Given the description of an element on the screen output the (x, y) to click on. 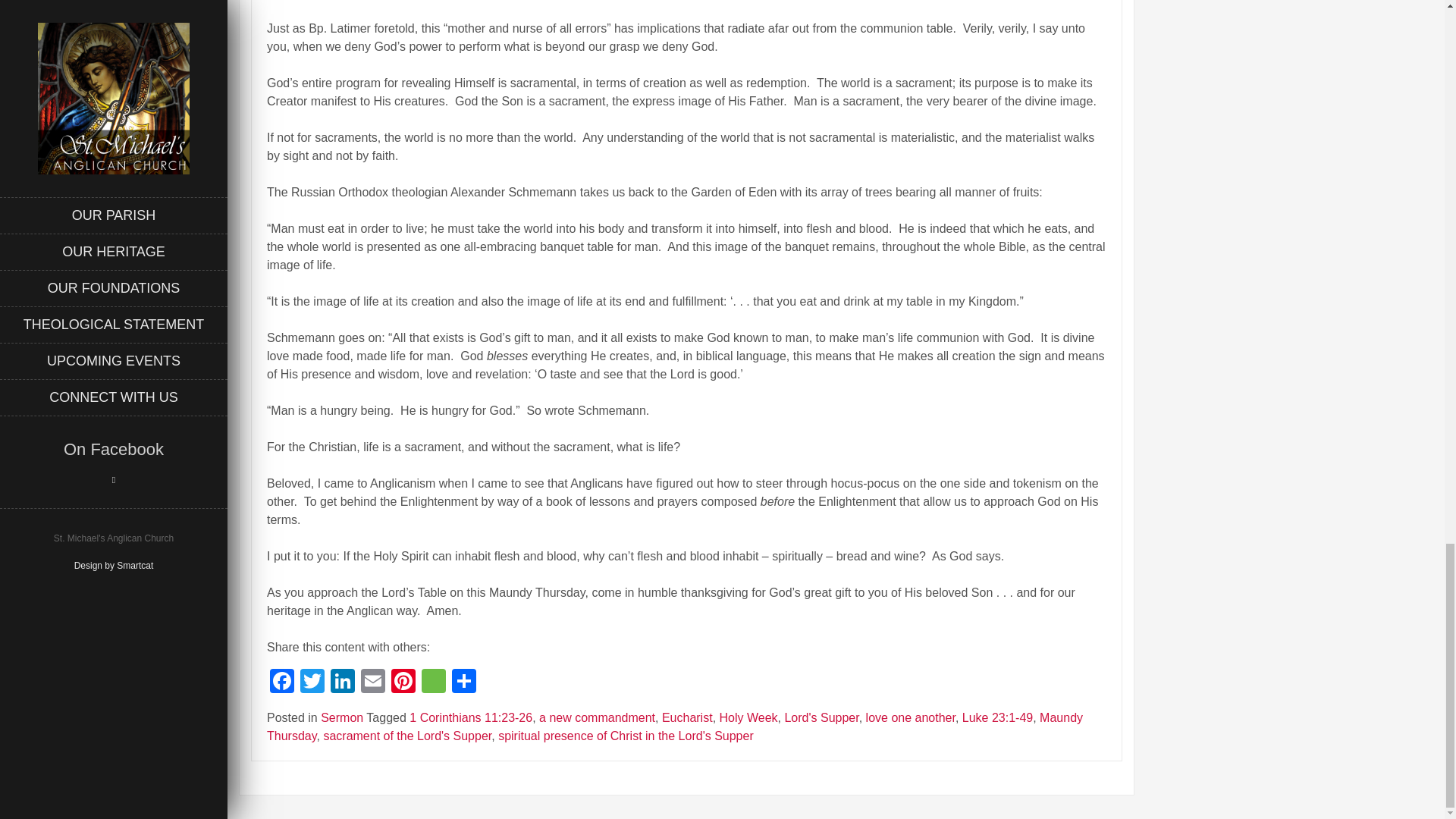
sacrament of the Lord's Supper (407, 735)
Eucharist (687, 717)
Maundy Thursday (674, 726)
Holy Week (748, 717)
a new commandment (596, 717)
LinkedIn (342, 682)
Pinterest (403, 682)
SMS (433, 682)
LinkedIn (342, 682)
Twitter (312, 682)
